Given the description of an element on the screen output the (x, y) to click on. 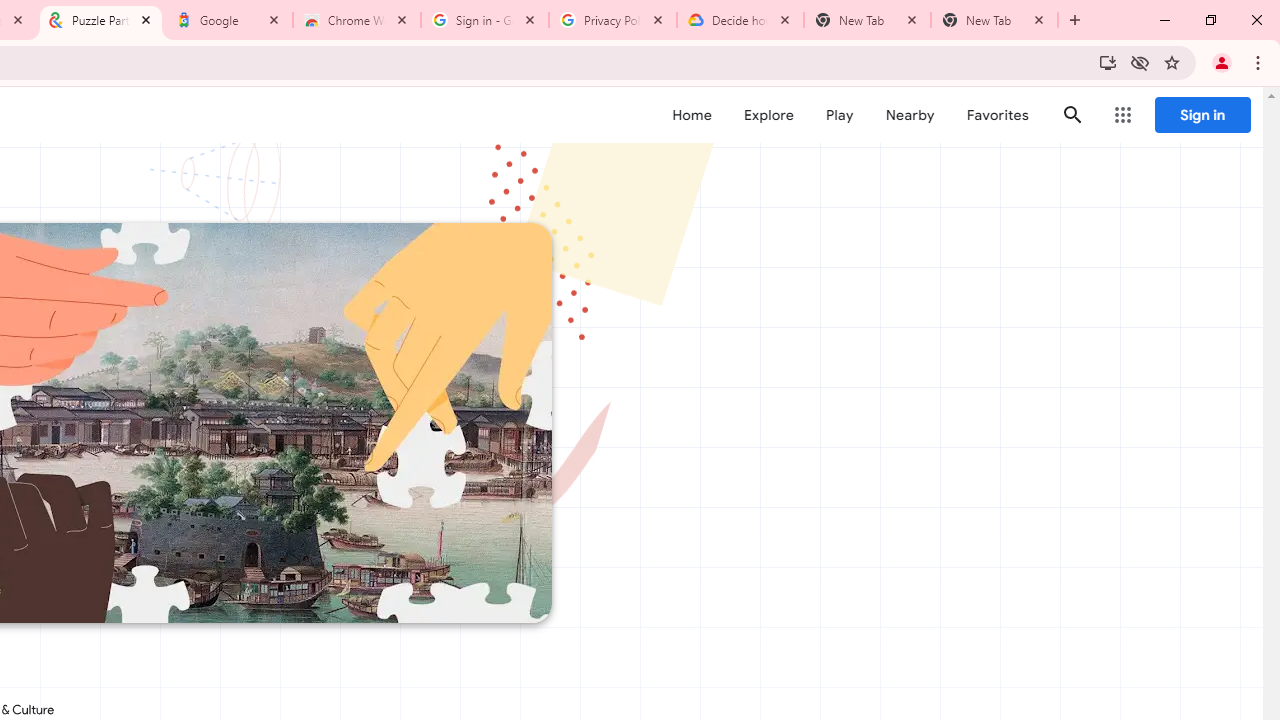
Google (229, 20)
Nearby (910, 115)
